Given the description of an element on the screen output the (x, y) to click on. 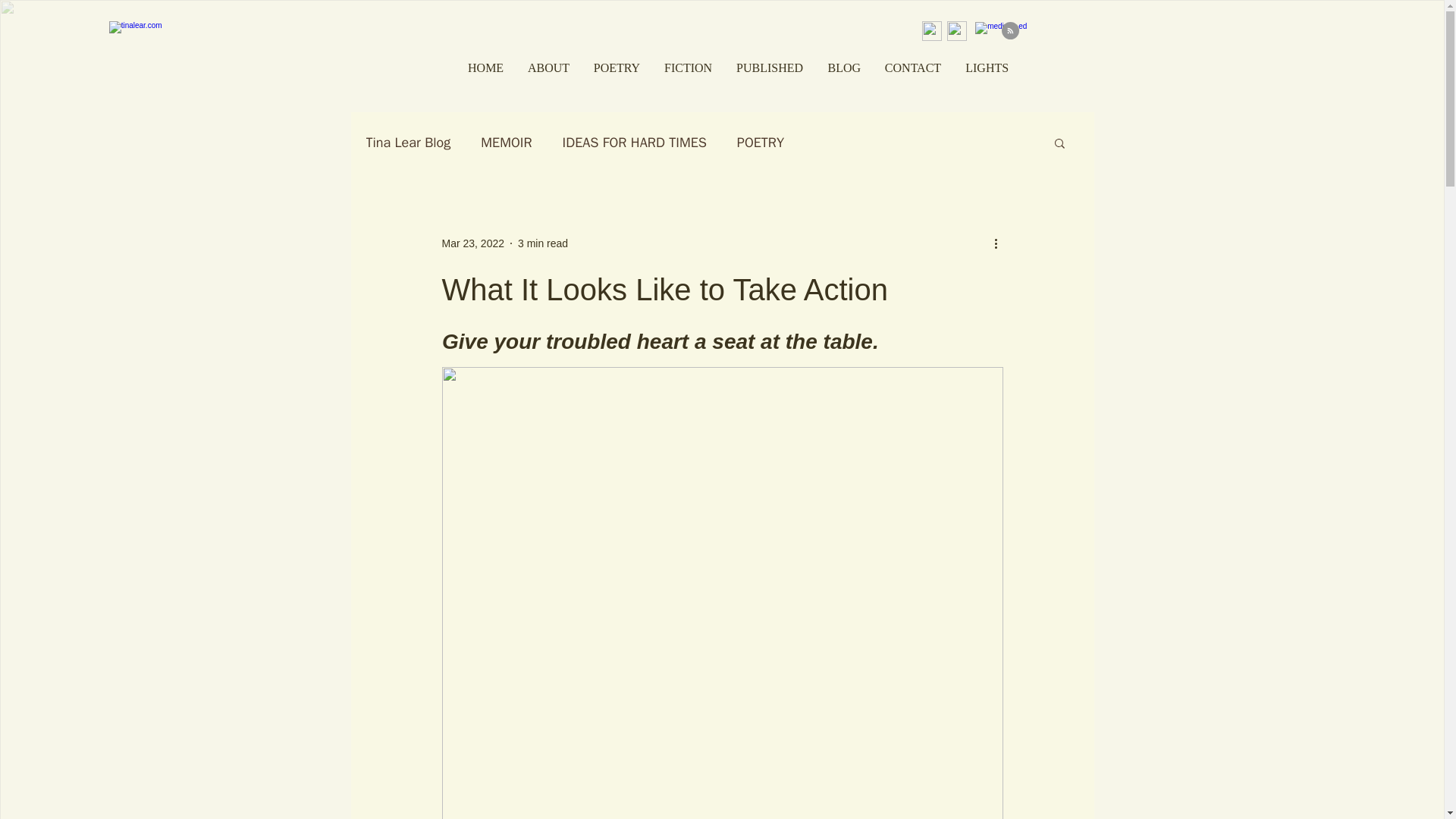
MEMOIR (505, 142)
CONTACT (912, 67)
Mar 23, 2022 (472, 242)
HOME (484, 67)
3 min read (542, 242)
IDEAS FOR HARD TIMES (634, 142)
POETRY (615, 67)
Tina Lear Blog (407, 142)
LIGHTS (986, 67)
BLOG (842, 67)
